Given the description of an element on the screen output the (x, y) to click on. 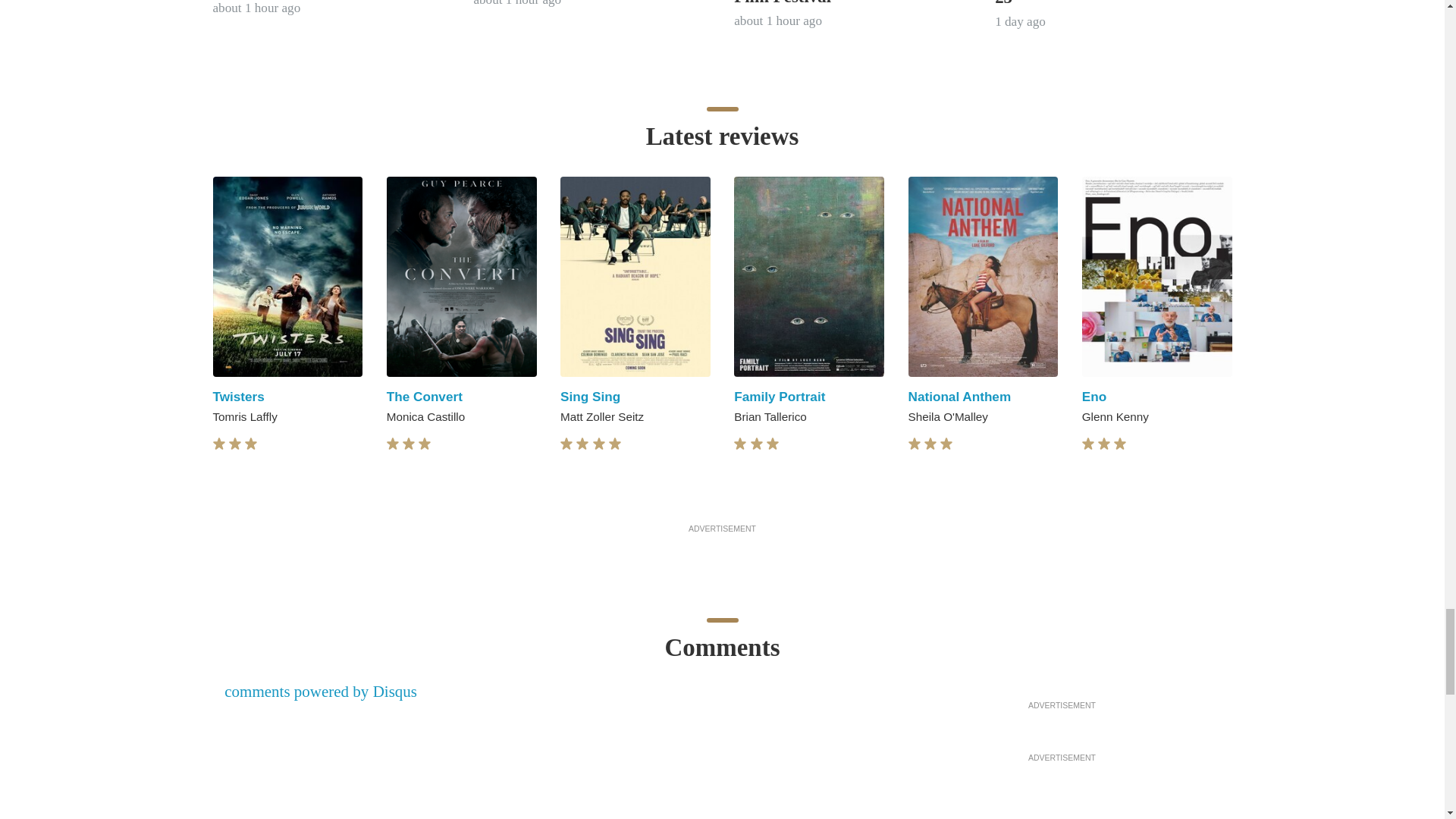
star-full (582, 443)
star-full (614, 443)
star-full (566, 443)
star-full (598, 443)
star-full (234, 443)
star-full (408, 443)
star-full (250, 443)
star-full (218, 443)
star-full (392, 443)
star-full (424, 443)
